Given the description of an element on the screen output the (x, y) to click on. 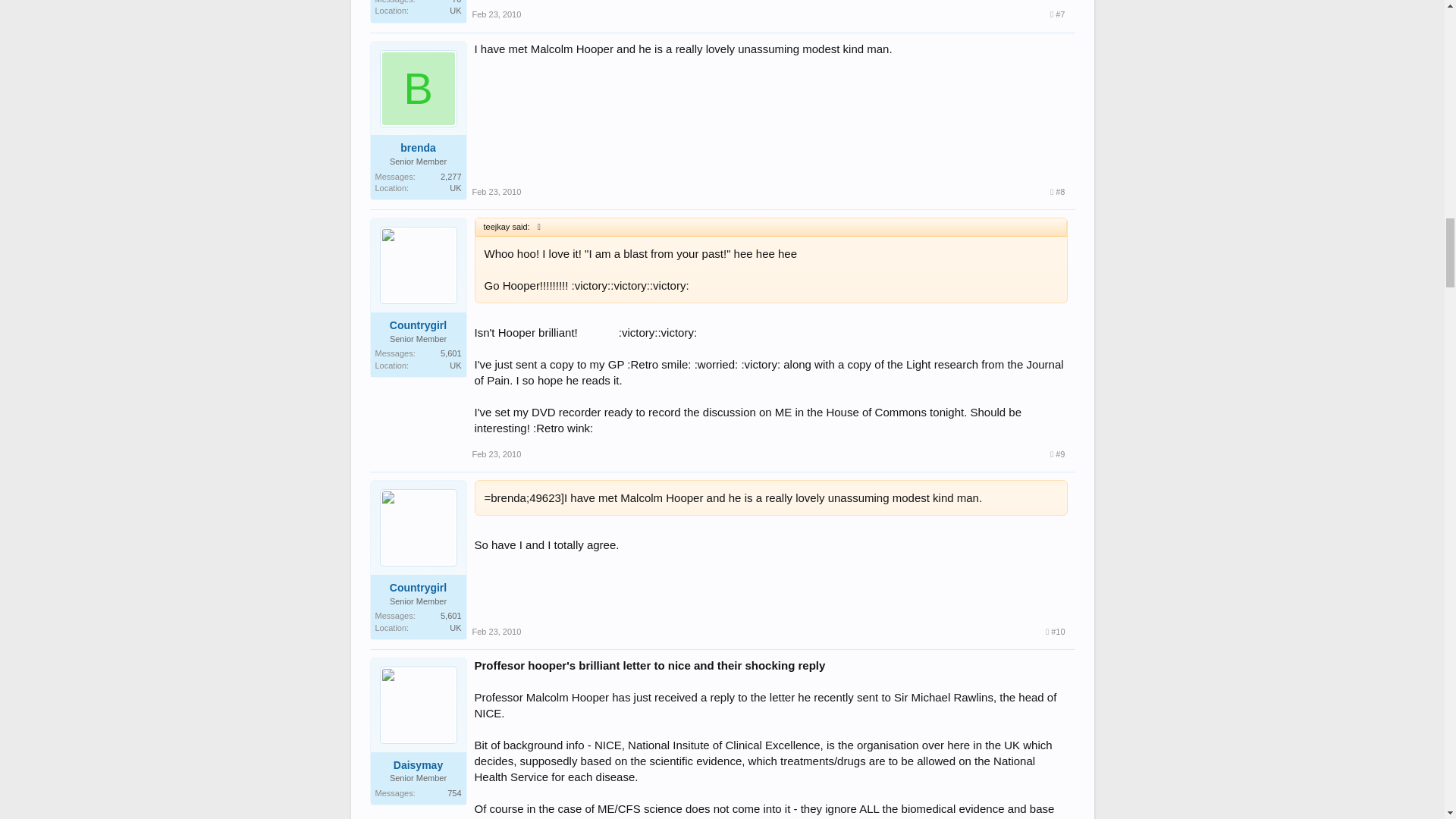
Feb 23, 2010 at 1:05 PM (496, 191)
Big Grin    :D (584, 332)
Big Grin    :D (806, 253)
Big Grin    :D (598, 332)
Feb 23, 2010 at 12:59 PM (496, 13)
